Given the description of an element on the screen output the (x, y) to click on. 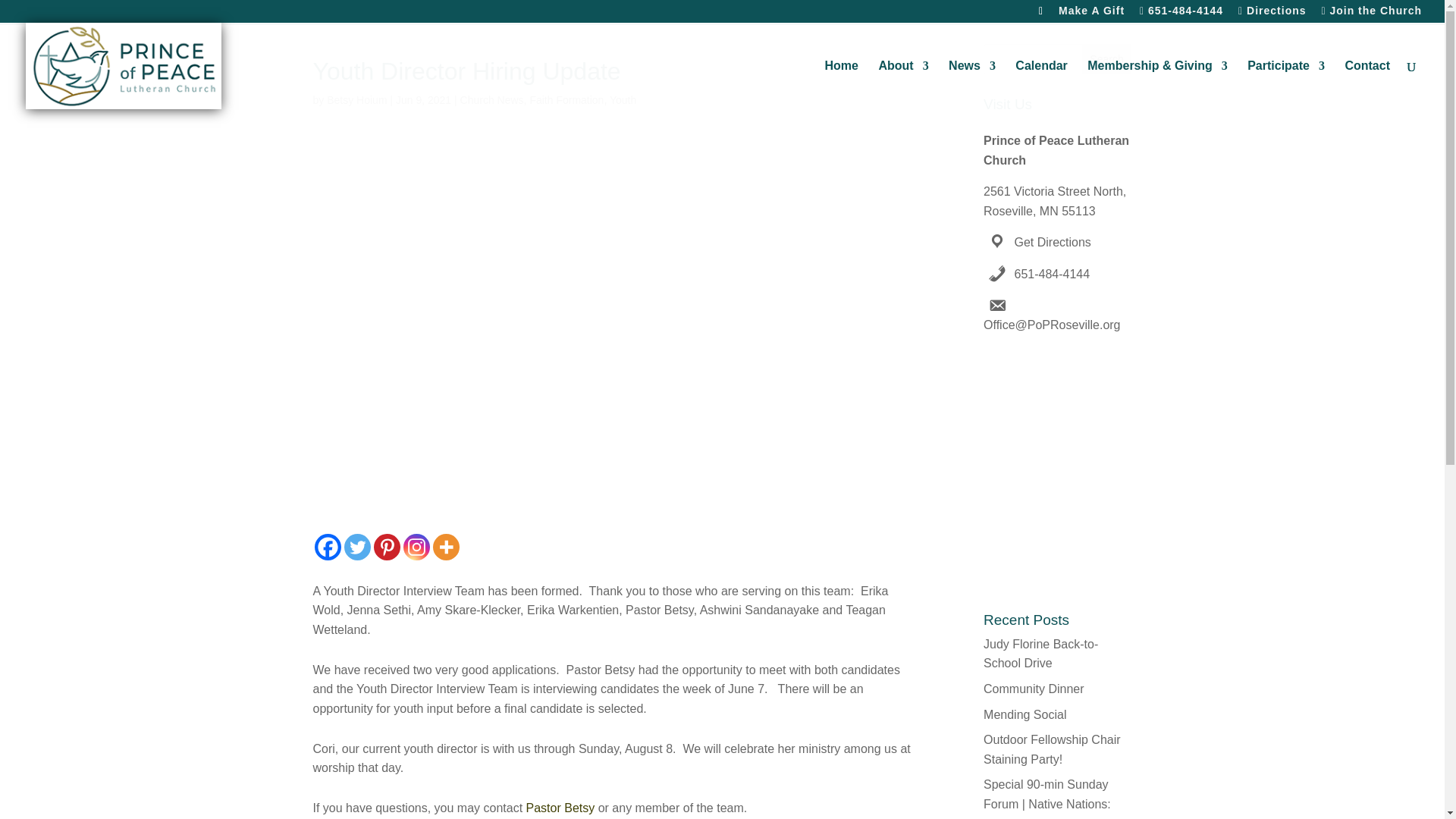
Pinterest (385, 546)
Search (1106, 59)
Make A Gift (1091, 14)
Instagram (416, 546)
Twitter (357, 546)
Directions (1272, 14)
Posts by Betsy Hoium (356, 100)
More (445, 546)
News (972, 84)
Facebook (327, 546)
Participate (1285, 84)
About (902, 84)
Join the Church (1371, 14)
Calendar (1040, 84)
651-484-4144 (1181, 14)
